Given the description of an element on the screen output the (x, y) to click on. 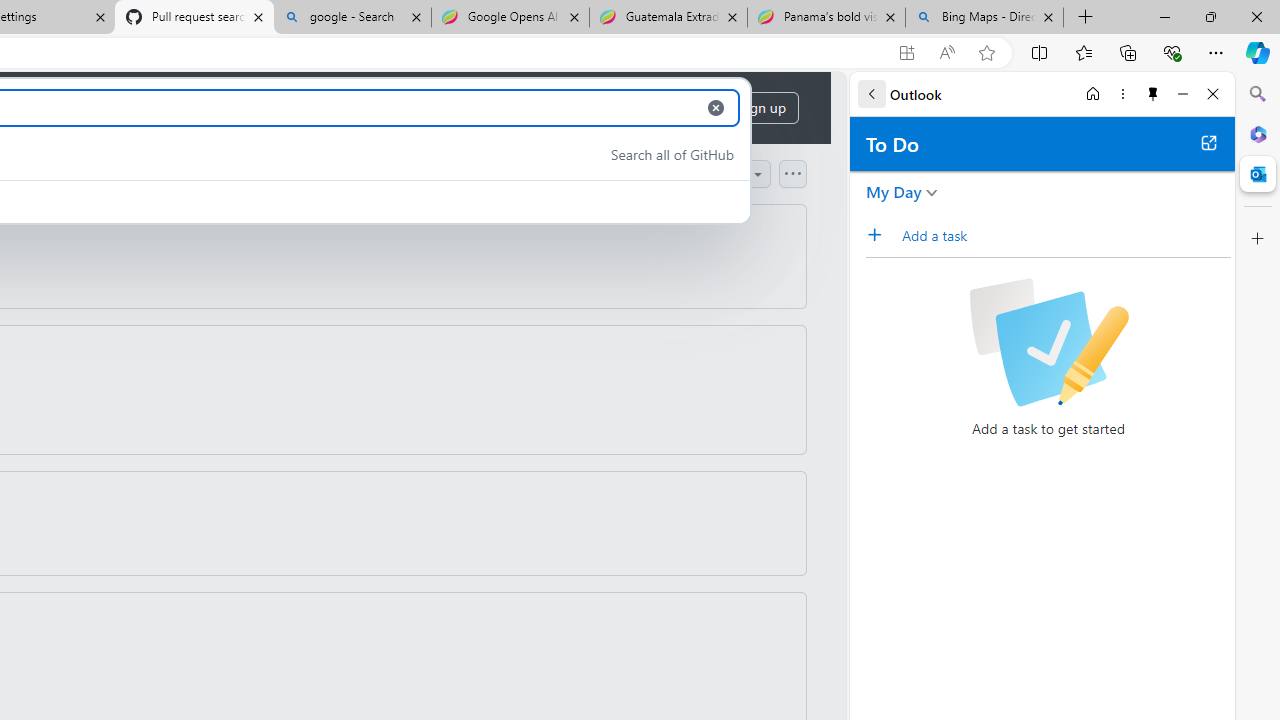
Add a task (881, 235)
App available. Install GitHub (906, 53)
Checkbox with a pencil (1047, 342)
